Given the description of an element on the screen output the (x, y) to click on. 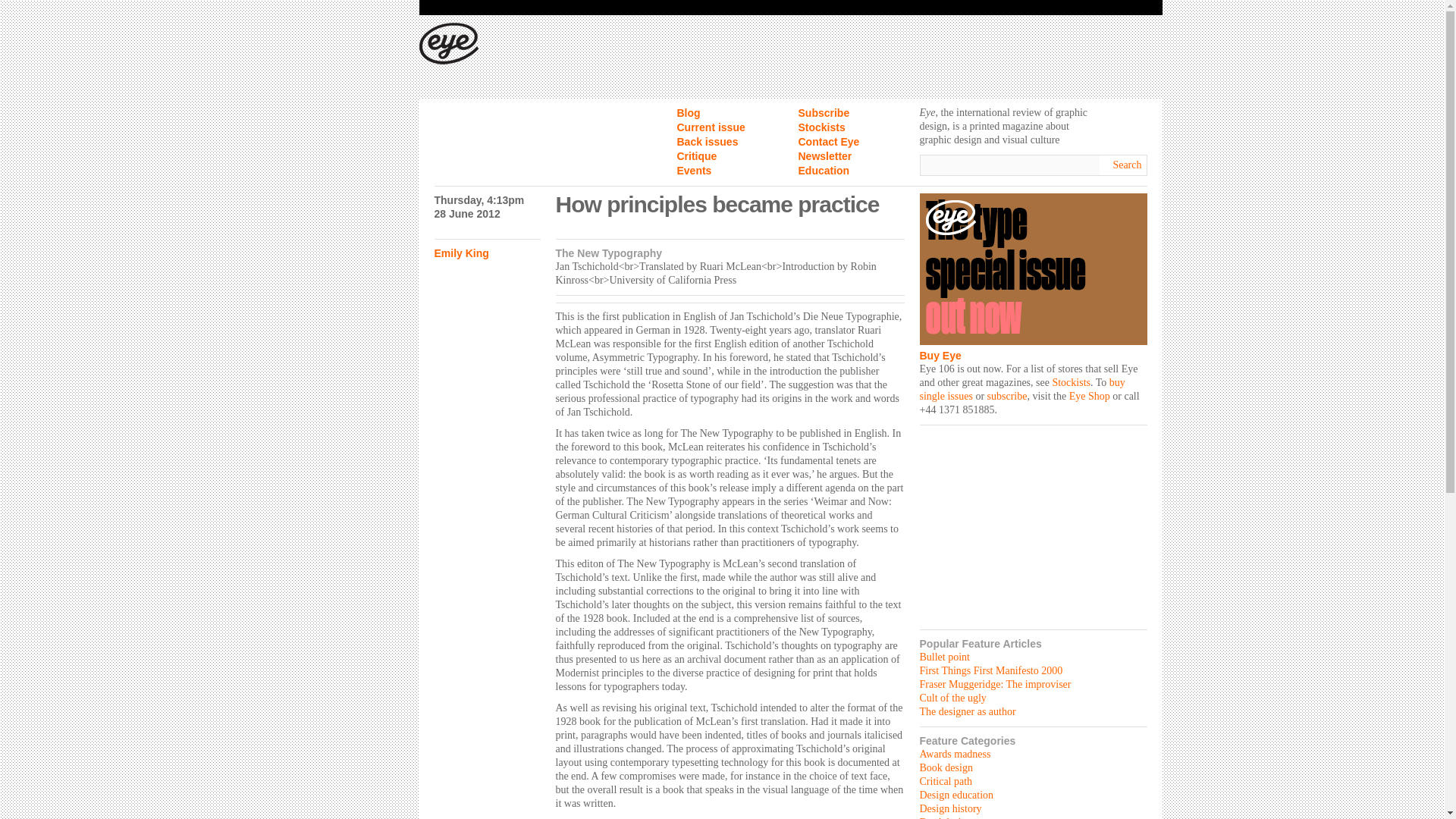
Back issues (707, 141)
Book design (945, 767)
Current issue (710, 127)
Food design (944, 817)
Newsletter (824, 155)
Emily King (460, 253)
Fraser Muggeridge: The improviser (994, 684)
Contact Eye (828, 141)
Blog (688, 112)
Events (694, 170)
Cult of the ugly (951, 697)
Bullet point (943, 656)
buy single issues (1021, 389)
Subscribe (822, 112)
Design education (955, 794)
